Given the description of an element on the screen output the (x, y) to click on. 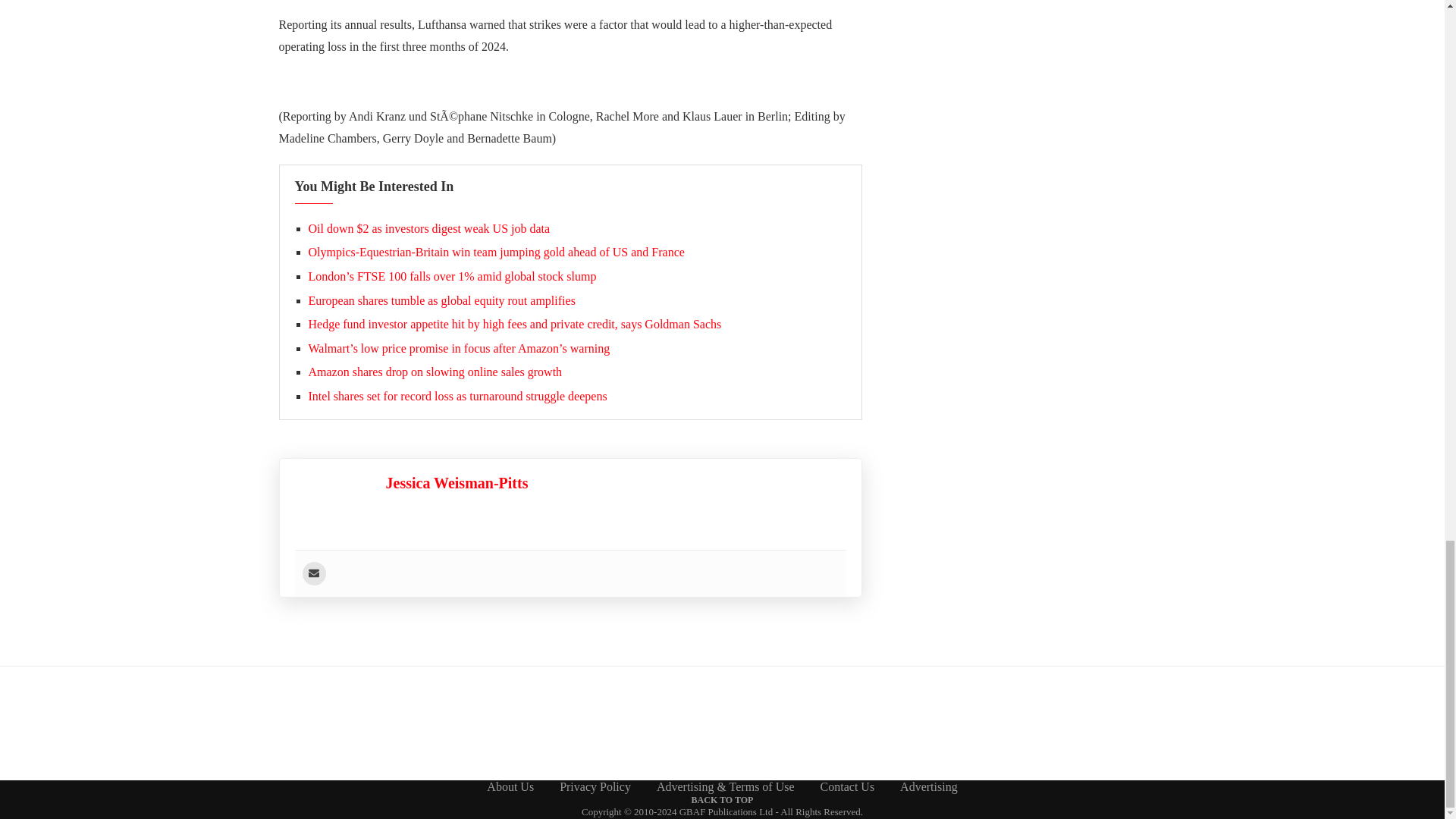
User email (312, 573)
BACK TO TOP (722, 798)
Privacy Policy (594, 786)
European shares tumble as global equity rout amplifies (441, 300)
Contact Us (848, 786)
About Us (510, 786)
Jessica Weisman-Pitts (456, 483)
Advertising (928, 786)
Amazon shares drop on slowing online sales growth (434, 371)
